Given the description of an element on the screen output the (x, y) to click on. 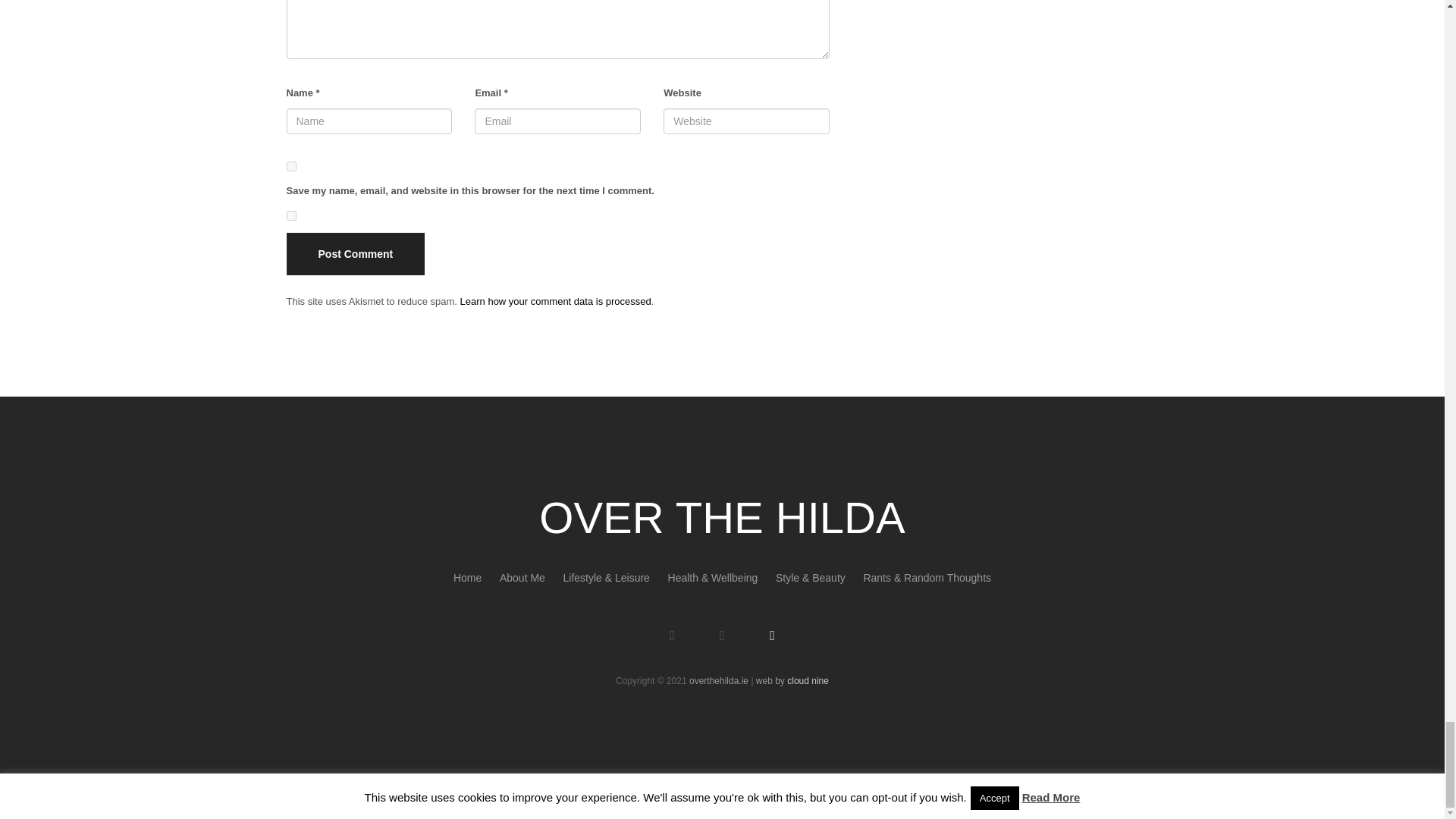
Post Comment (355, 253)
yes (291, 215)
yes (291, 166)
